Given the description of an element on the screen output the (x, y) to click on. 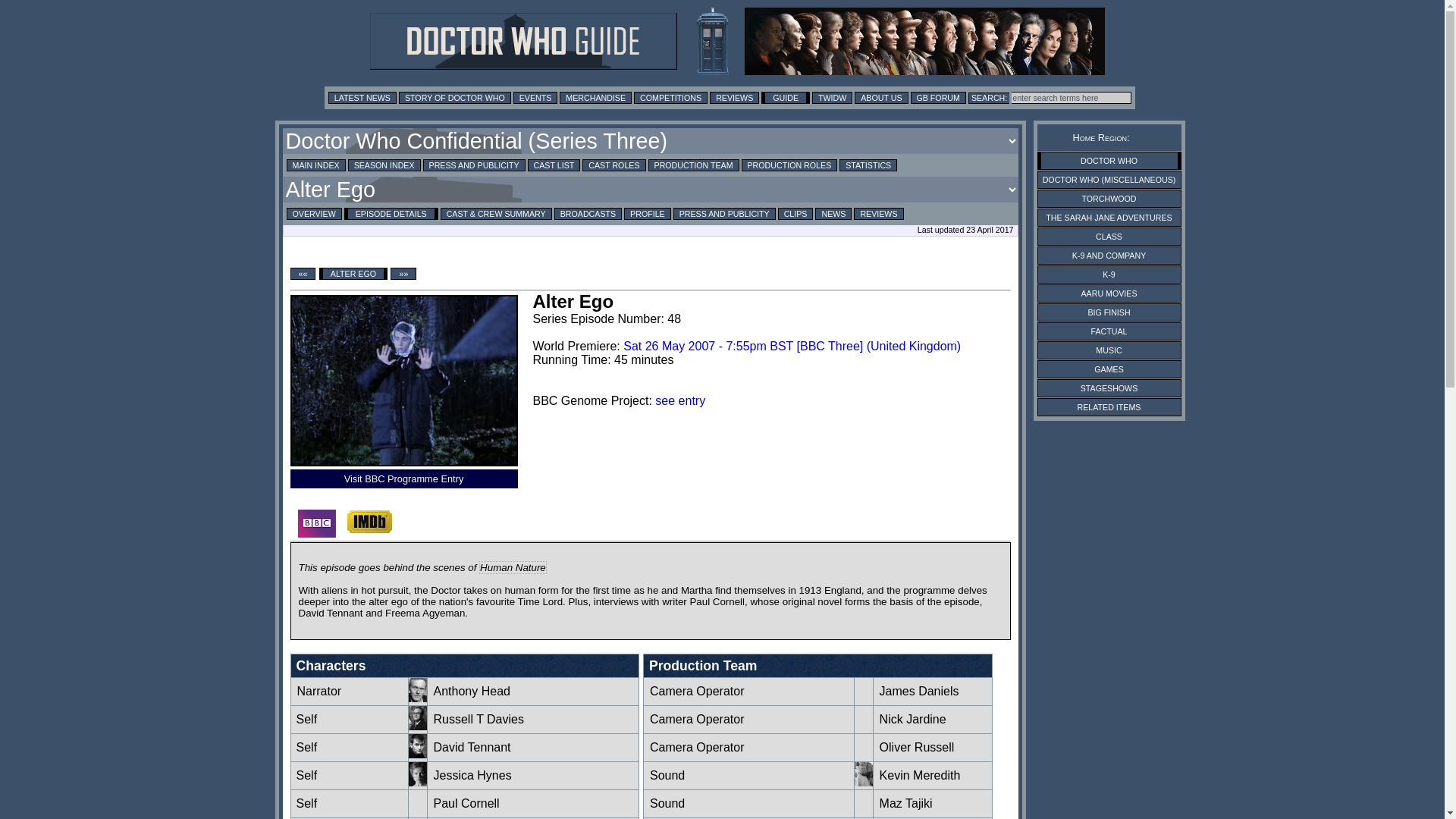
PRESS AND PUBLICITY (724, 214)
CAST LIST (553, 164)
LATEST NEWS (362, 97)
BROADCASTS (587, 214)
Visit BBC Programme Entry (403, 478)
ALTER EGO (352, 273)
ABOUT US (880, 97)
Russell T Davies (417, 725)
REVIEWS (877, 214)
Russell T Davies (306, 718)
PRESS AND PUBLICITY (474, 164)
EVENTS (535, 97)
MERCHANDISE (595, 97)
NEWS (833, 214)
IMDb (369, 521)
